Given the description of an element on the screen output the (x, y) to click on. 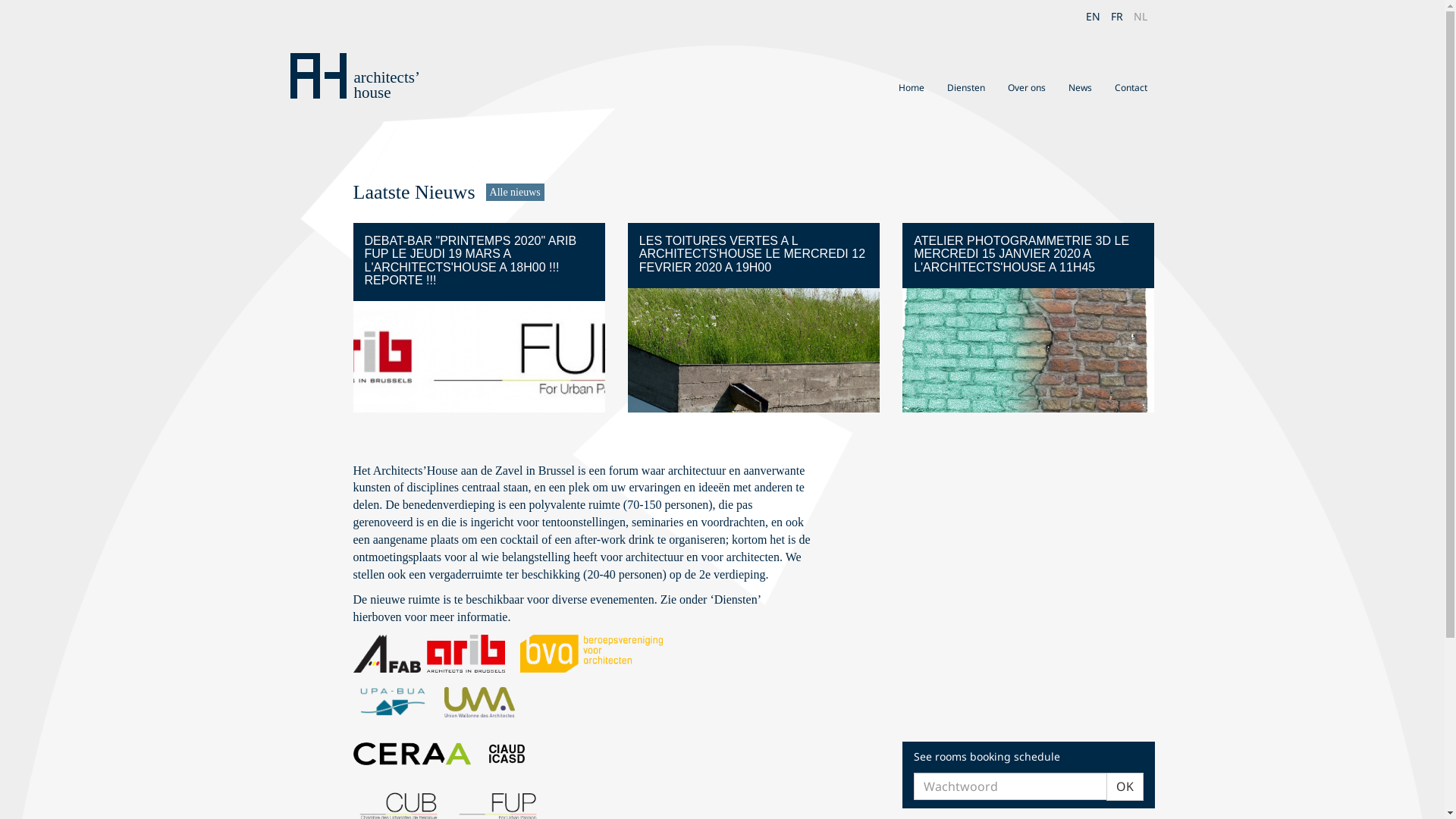
Over ons Element type: text (1025, 87)
News Element type: text (1079, 87)
EN Element type: text (1092, 16)
FR Element type: text (1116, 16)
Home Element type: text (910, 87)
Diensten Element type: text (964, 87)
Alle nieuws Element type: text (515, 191)
NL Element type: text (1139, 16)
OK Element type: text (1123, 786)
Contact Element type: text (1130, 87)
